Given the description of an element on the screen output the (x, y) to click on. 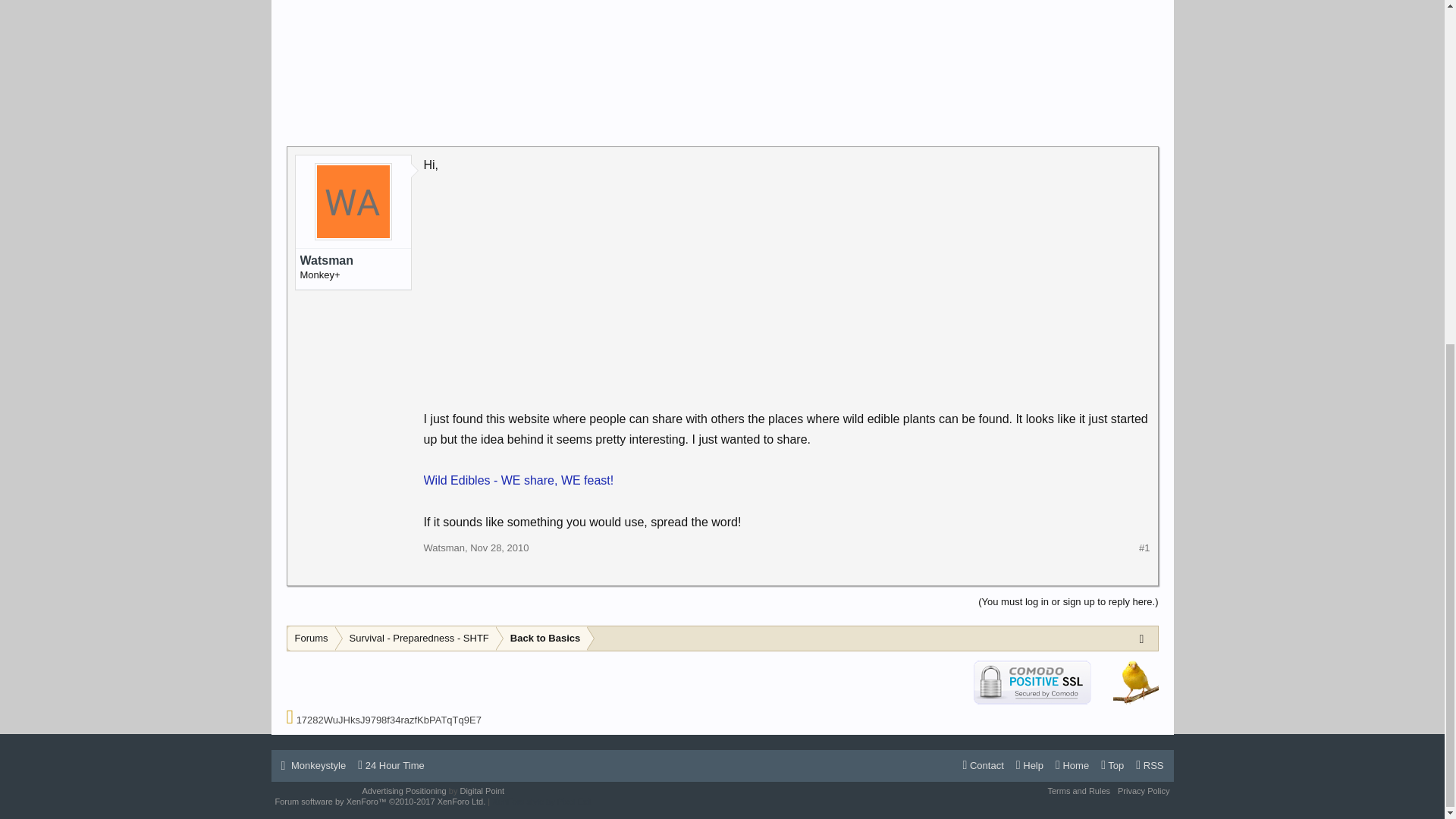
Monkeystyle (313, 765)
Watsman (443, 547)
Back to Basics (542, 638)
Warrant Canary (1135, 681)
RSS feed for Survival Monkey Forums (1149, 765)
Wild Edibles - WE share, WE feast! (518, 480)
Survival - Preparedness - SHTF (416, 638)
Permalink (499, 547)
17282WuJHksJ9798f34razfKbPATqTq9E7 (389, 719)
Forums (310, 638)
Advertisement (722, 58)
Watsman (352, 260)
Open quick navigation (1144, 637)
Nov 28, 2010 (499, 547)
